Given the description of an element on the screen output the (x, y) to click on. 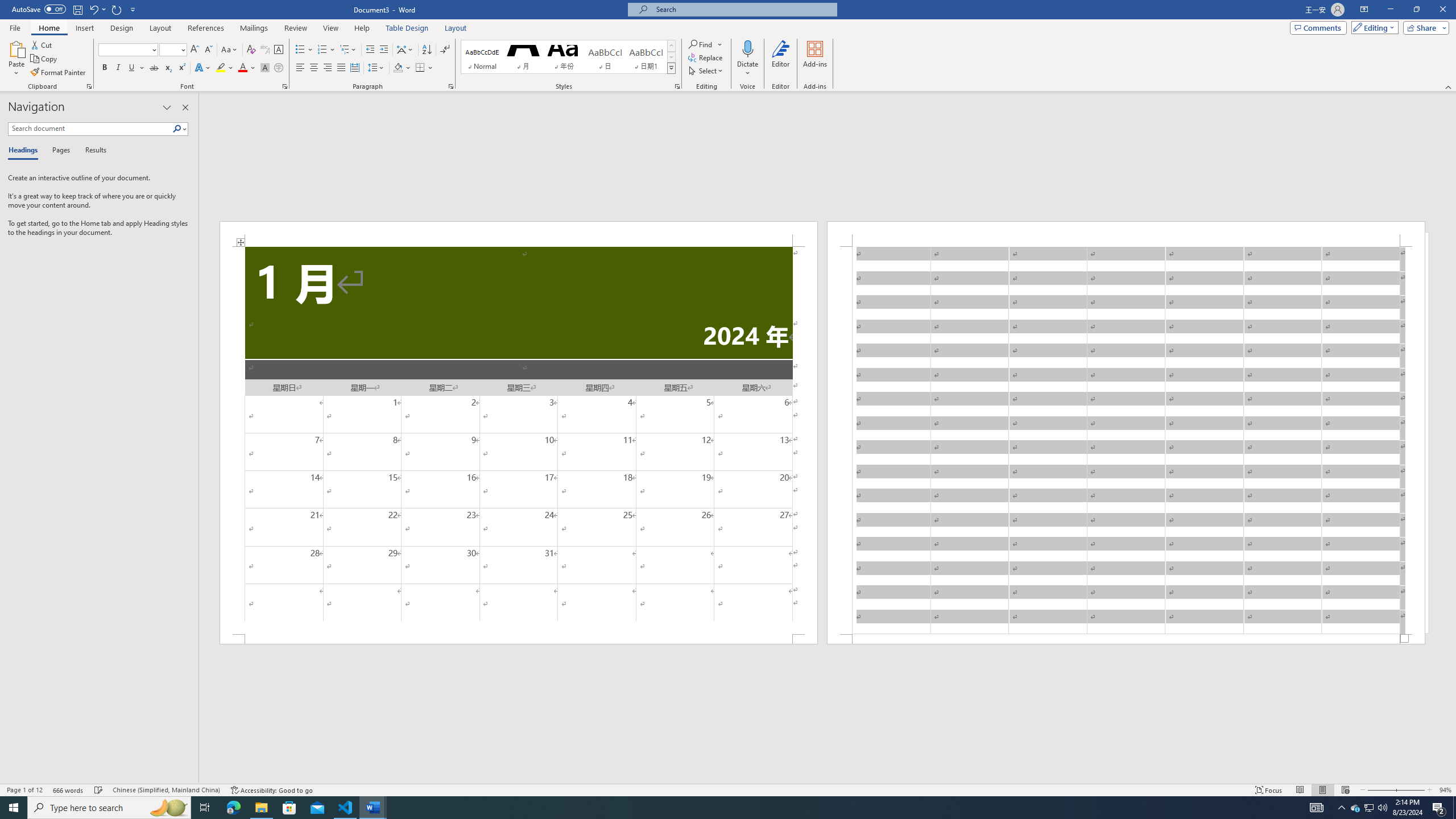
Paste (16, 48)
Change Case (229, 49)
Increase Indent (383, 49)
Search (177, 128)
Close pane (185, 107)
Borders (419, 67)
Grow Font (193, 49)
Font Size (169, 49)
Find (705, 44)
Undo Insert Row Below (92, 9)
Line and Paragraph Spacing (376, 67)
Show/Hide Editing Marks (444, 49)
Word Count 666 words (68, 790)
Align Left (300, 67)
